Given the description of an element on the screen output the (x, y) to click on. 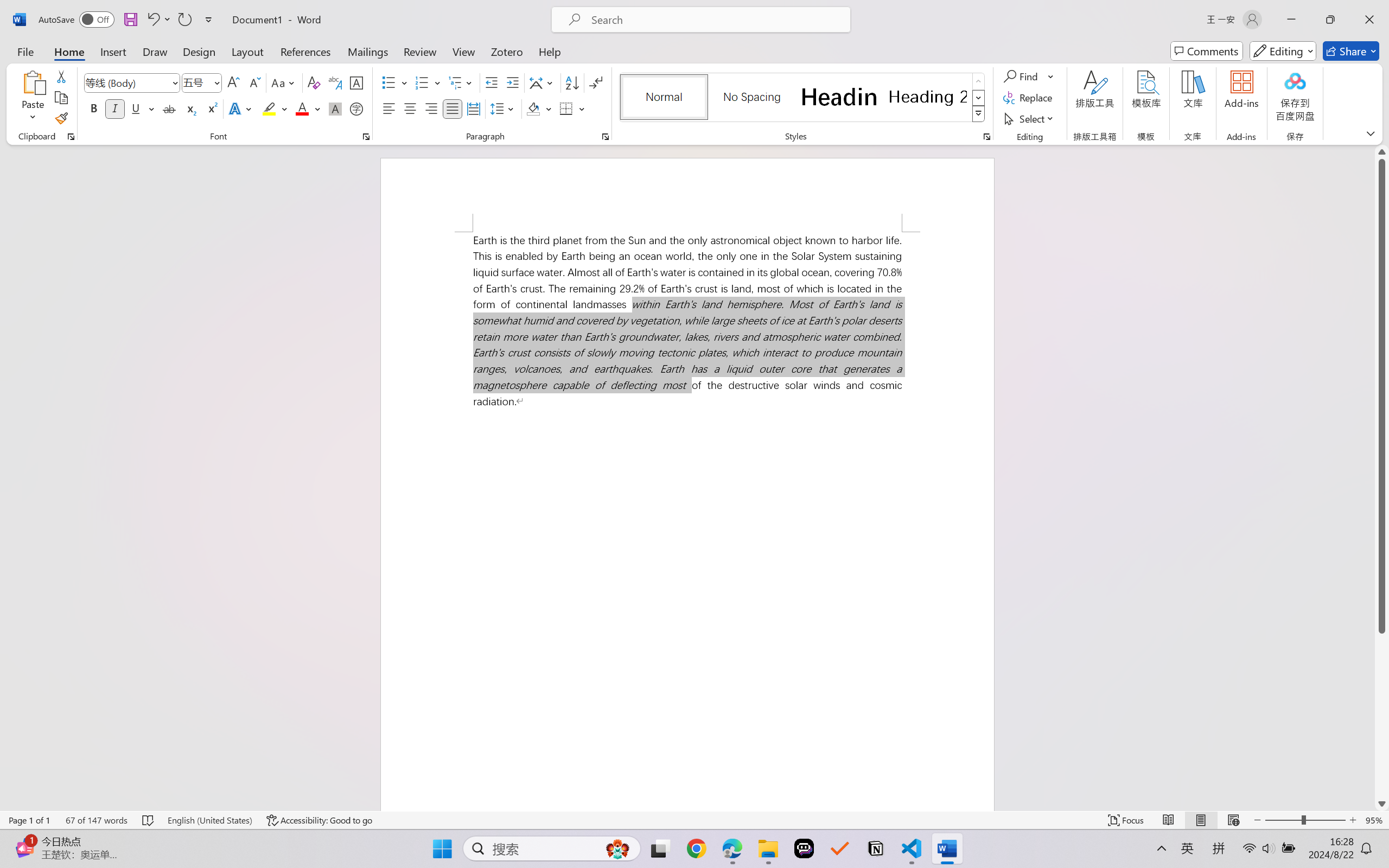
Character Shading (334, 108)
Font... (365, 136)
Zoom 95% (1374, 819)
Shading (539, 108)
Asian Layout (542, 82)
Justify (452, 108)
Repeat Doc Close (184, 19)
